Given the description of an element on the screen output the (x, y) to click on. 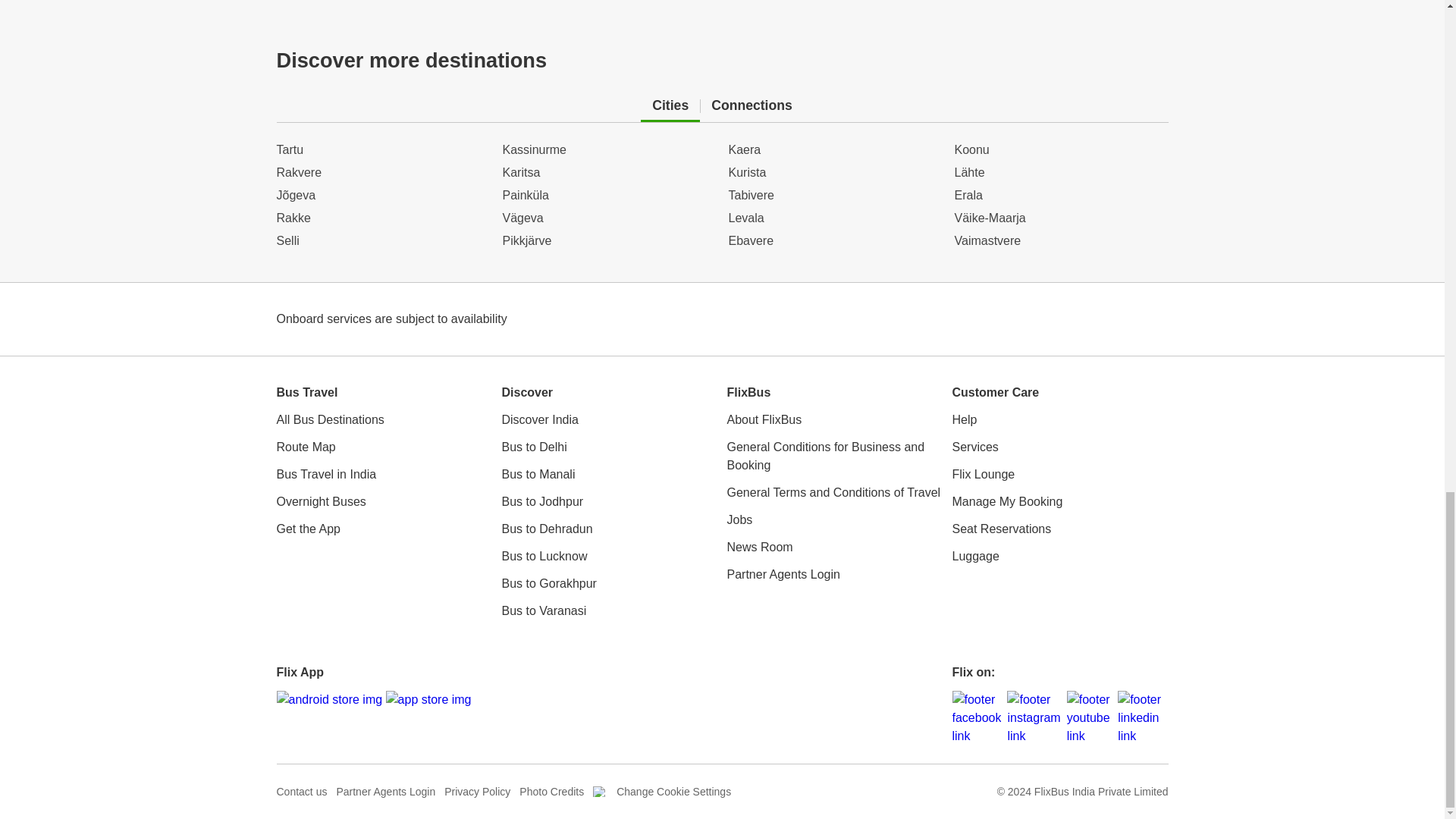
Kurista (835, 240)
Kassinurme (609, 172)
Erala (1060, 218)
Aburi (1060, 195)
Puhtaleiva (1060, 240)
Kaera (835, 172)
Rakke (382, 195)
Tabivere (609, 195)
Mullavere (1060, 172)
Karitsa (609, 149)
Rakvere (382, 172)
Ebavere (835, 149)
Connections (751, 105)
Tartu (382, 149)
Levala (835, 195)
